Given the description of an element on the screen output the (x, y) to click on. 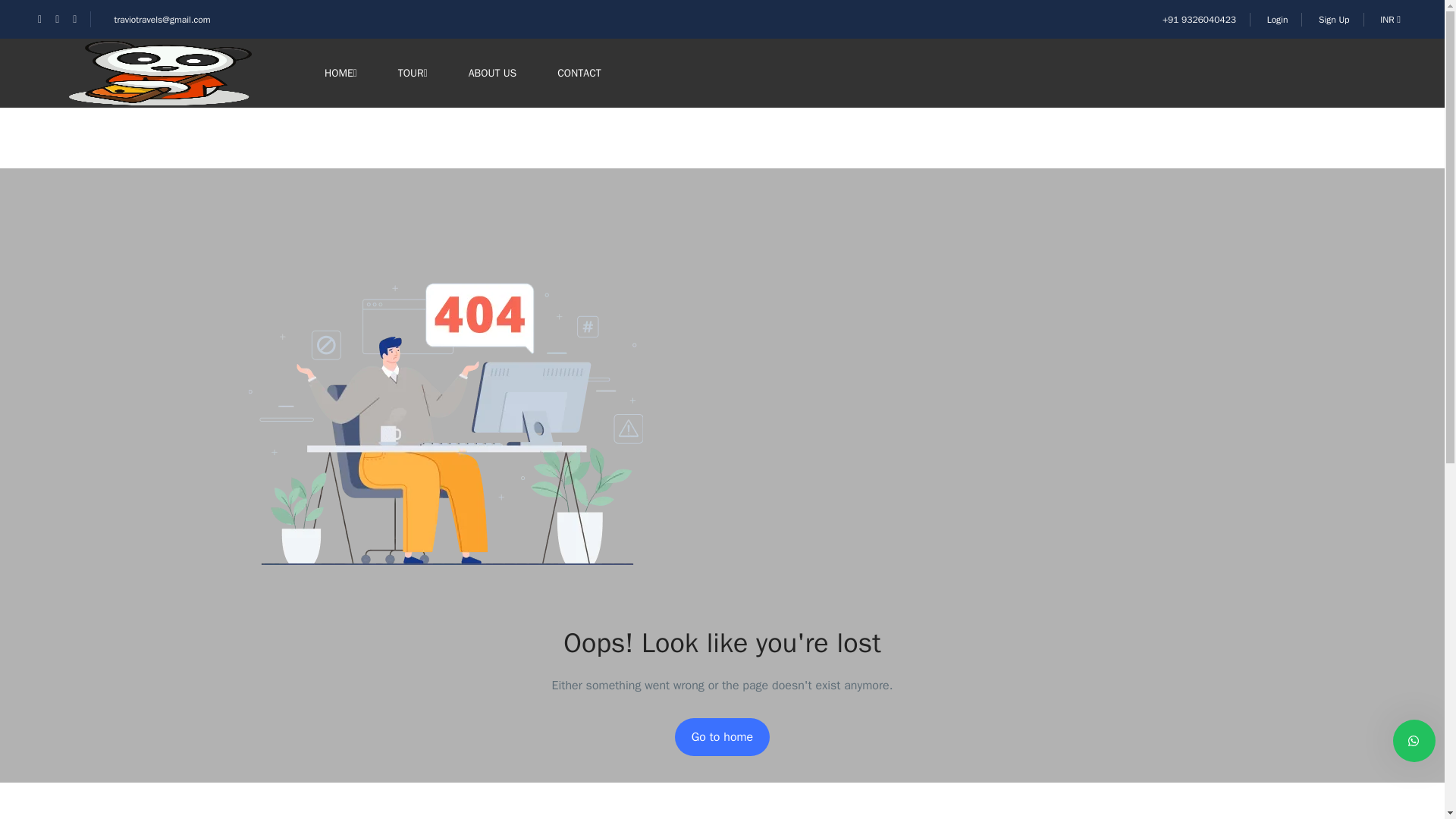
ABOUT US (492, 72)
INR (1393, 19)
Sign Up (1334, 19)
Go to home (722, 736)
CONTACT (579, 72)
TOUR (412, 72)
HOME (340, 72)
Login (1277, 19)
